Given the description of an element on the screen output the (x, y) to click on. 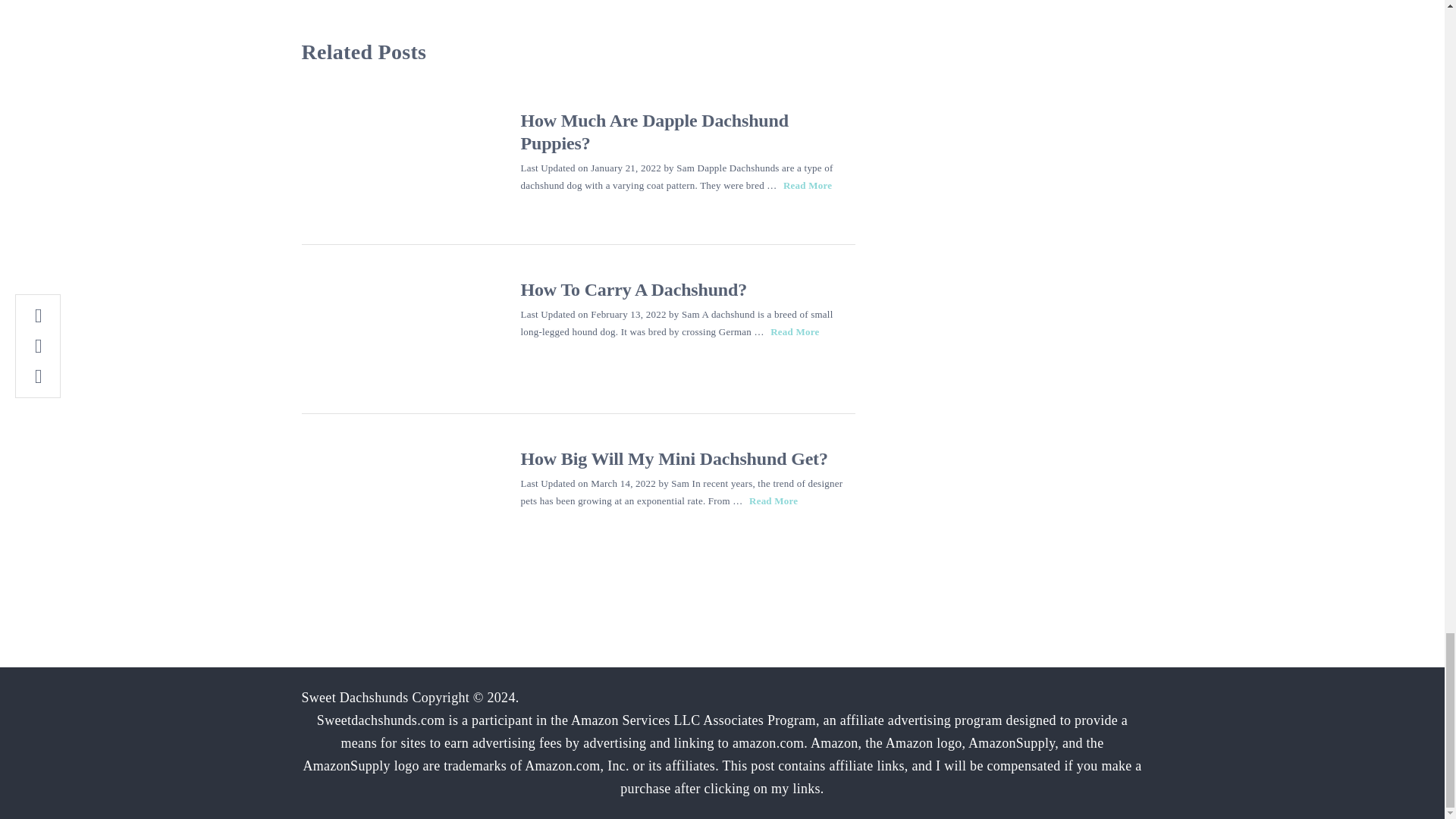
How To Carry A Dachshund? (397, 329)
Read More (807, 184)
How Much Are Dapple Dachshund Puppies? (807, 184)
Read More (794, 331)
How Big Will My Mini Dachshund Get? (673, 458)
How To Carry A Dachshund? (632, 289)
How Much Are Dapple Dachshund Puppies? (653, 131)
How Much Are Dapple Dachshund Puppies? (653, 131)
How Much Are Dapple Dachshund Puppies? (397, 159)
How To Carry A Dachshund? (632, 289)
Read More (773, 500)
